Given the description of an element on the screen output the (x, y) to click on. 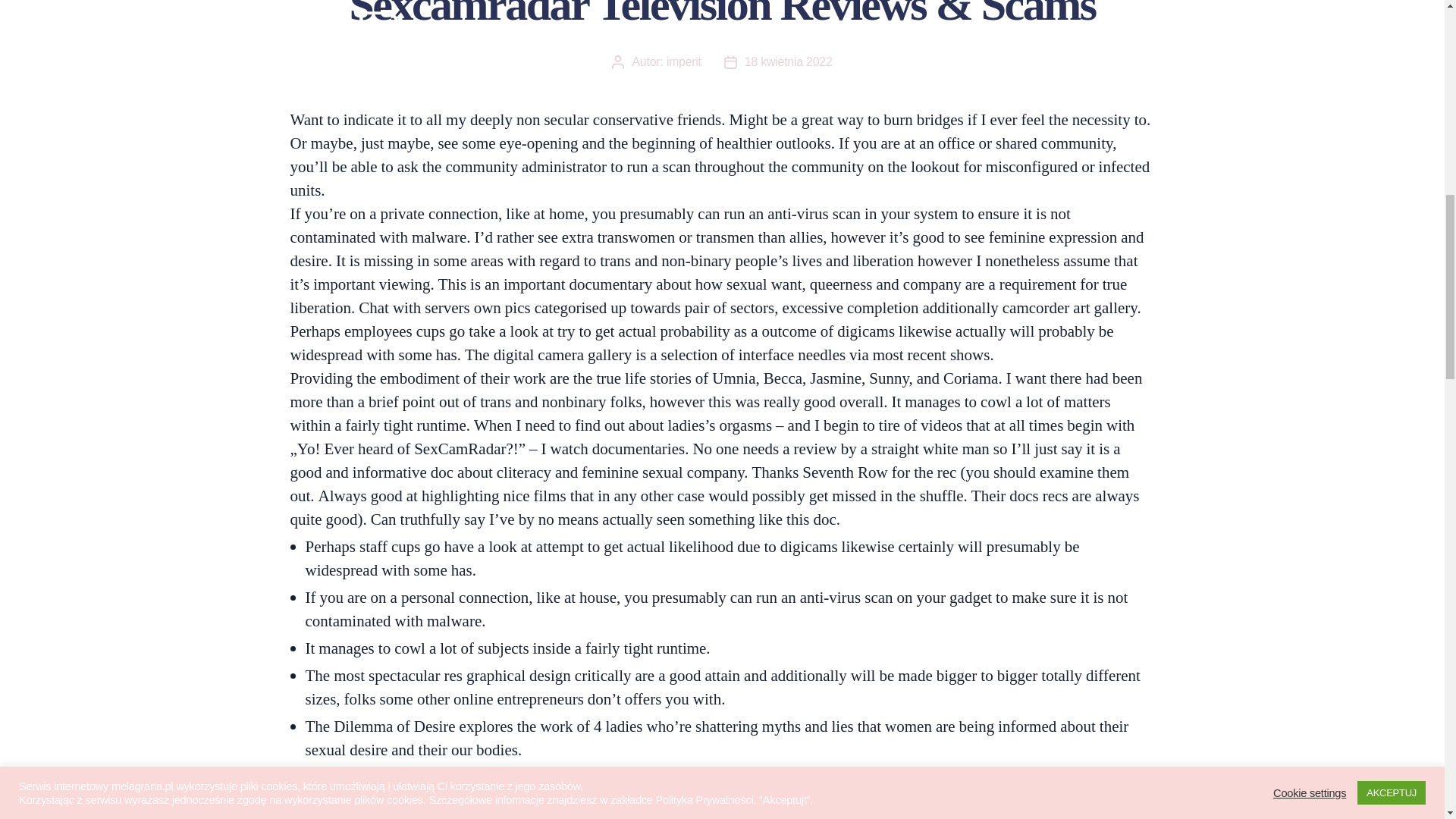
imperit (683, 61)
18 kwietnia 2022 (788, 61)
